Given the description of an element on the screen output the (x, y) to click on. 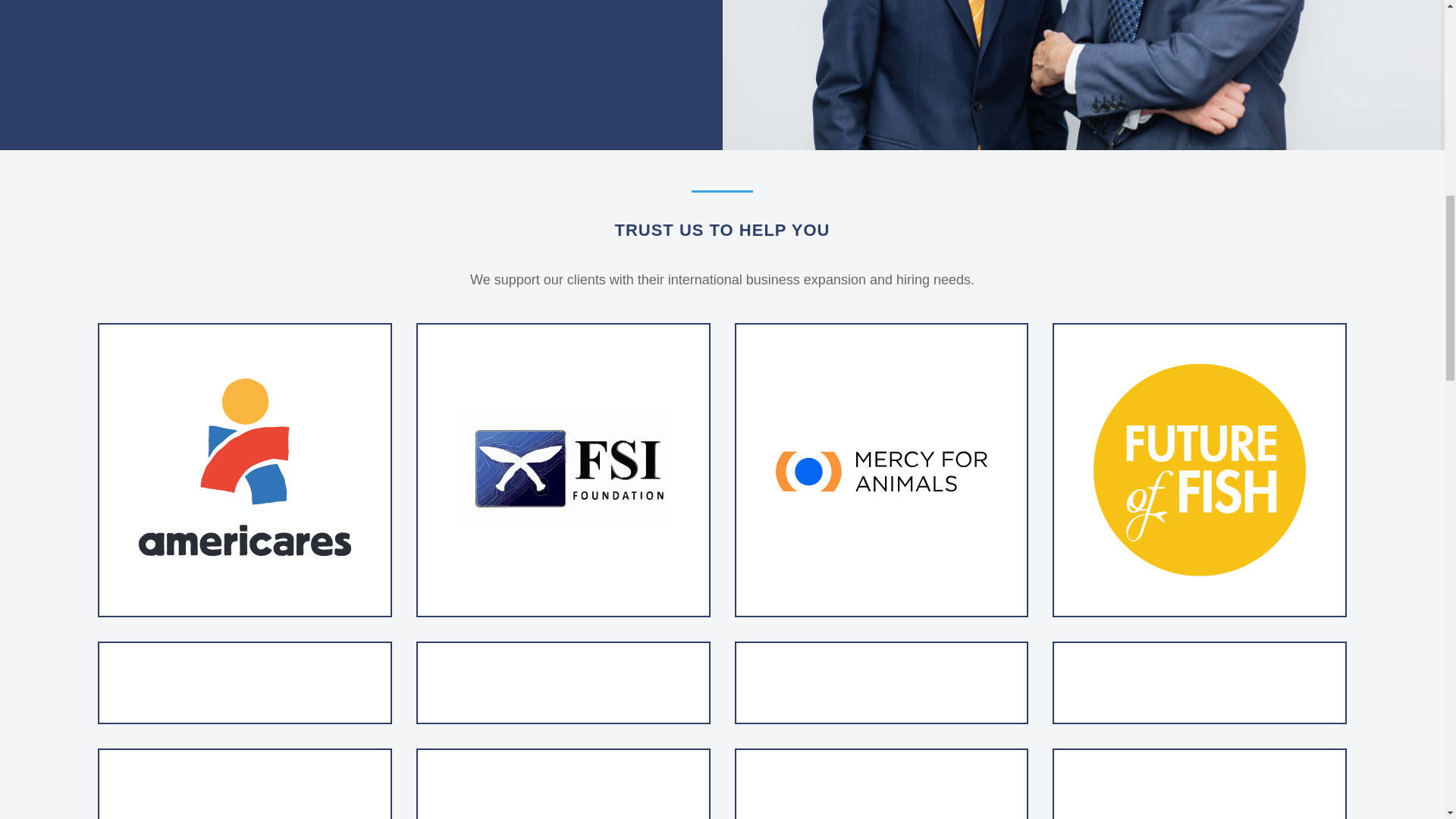
fsi-foundation-ngo.svg (563, 469)
mercy-for-animals-logo.svg (880, 469)
future-of-fish-ngo.svg (1199, 469)
